Given the description of an element on the screen output the (x, y) to click on. 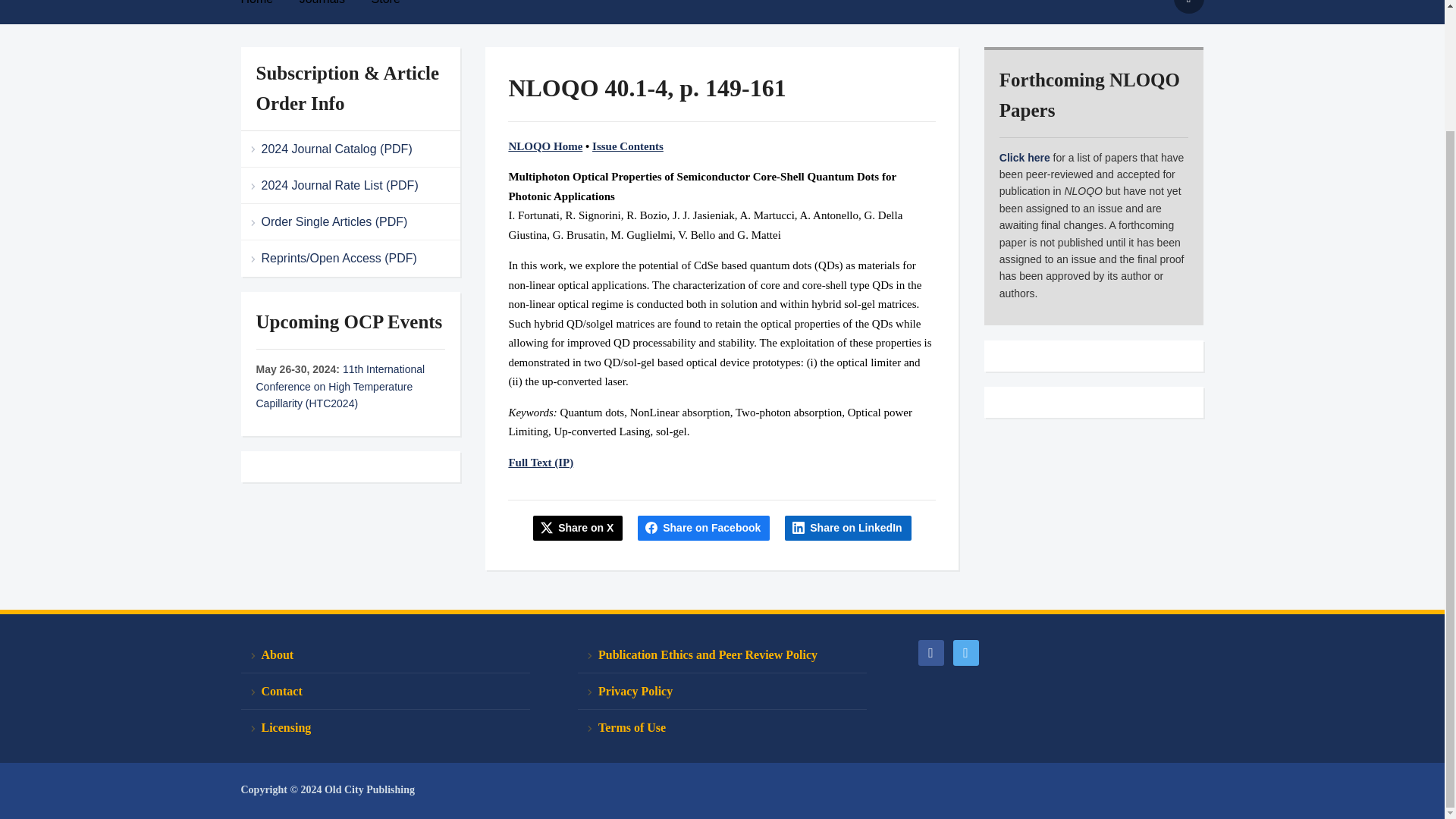
Share on X (577, 527)
Store (397, 8)
Share on LinkedIn (847, 527)
About (385, 655)
Share this on Facebook (703, 527)
Privacy Policy (722, 691)
NLOQO Home (545, 146)
twitter (965, 650)
Issue Contents (627, 146)
facebook (930, 650)
Home (269, 8)
Terms of Use (722, 727)
Journals (333, 8)
Share on Facebook (703, 527)
Click here (1023, 157)
